Given the description of an element on the screen output the (x, y) to click on. 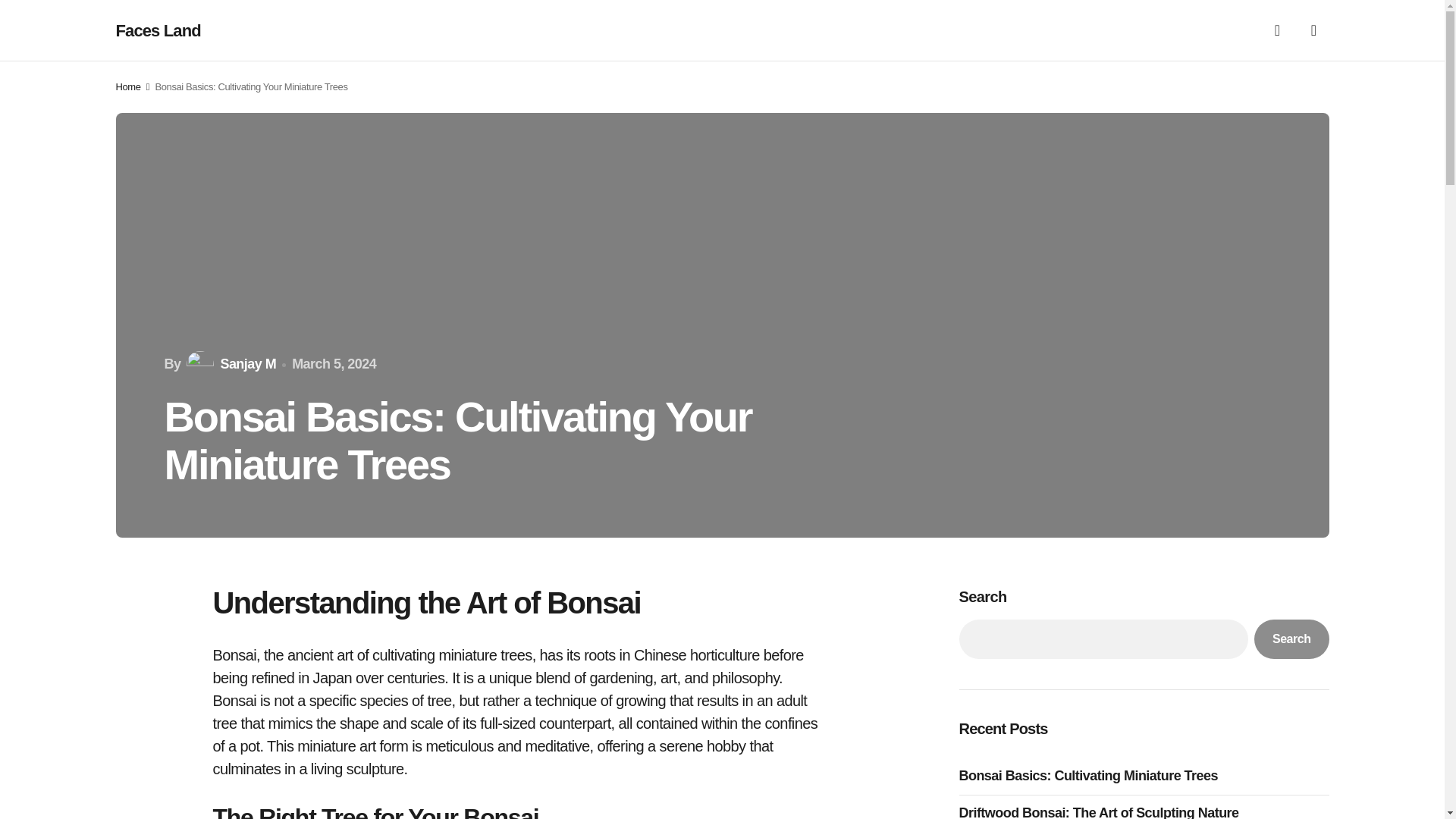
Bonsai Basics: Cultivating Miniature Trees (1091, 775)
Search (1291, 638)
Driftwood Bonsai: The Art of Sculpting Nature (1102, 811)
Sanjay M (229, 364)
Faces Land (157, 30)
Home (127, 86)
